Given the description of an element on the screen output the (x, y) to click on. 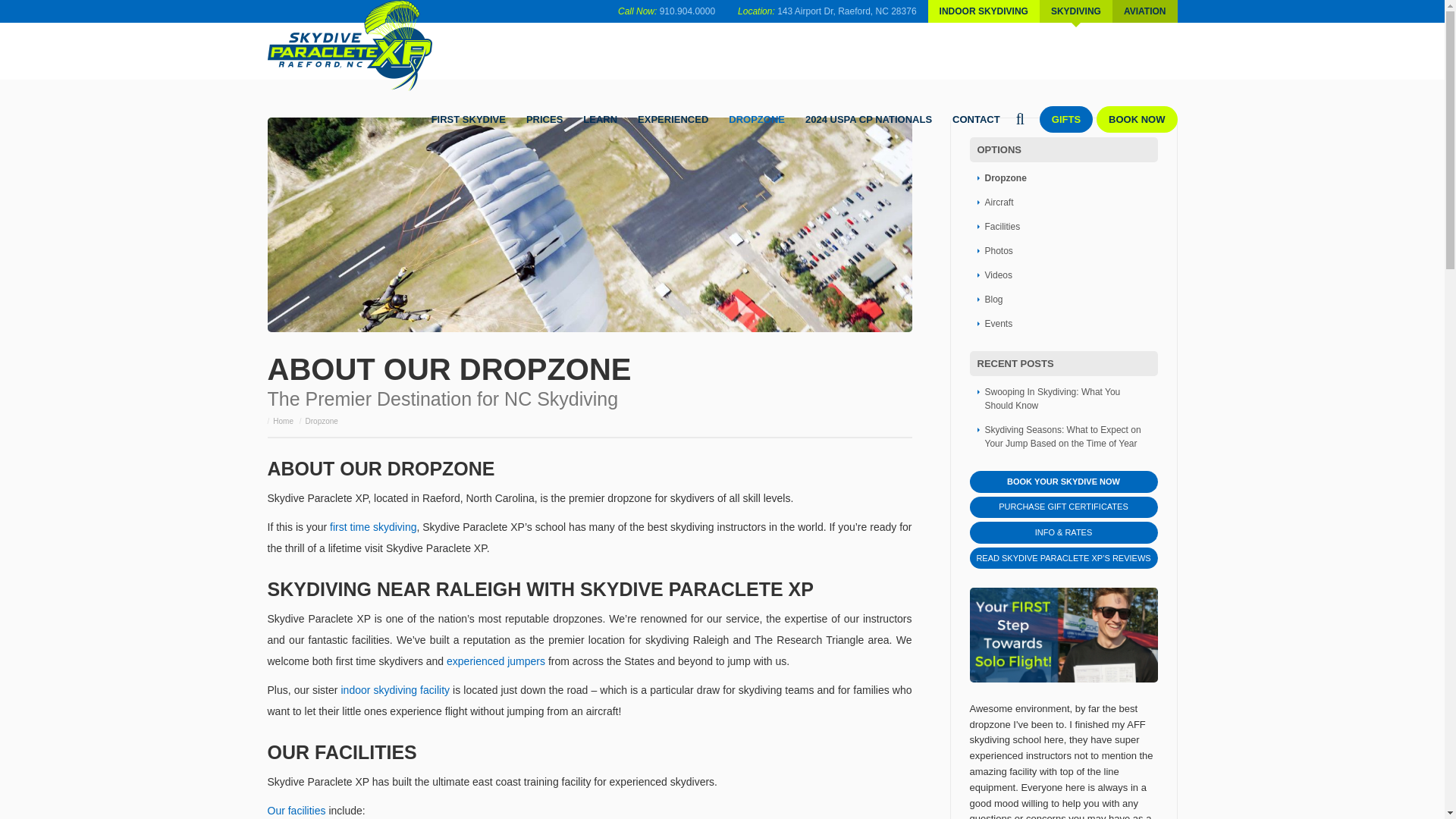
Call Now: 910.904.0000 (666, 11)
PRICES (544, 119)
Skydive Paraclete XP (353, 45)
AVIATION (1144, 11)
INDOOR SKYDIVING (983, 11)
2024 USPA CP NATIONALS (868, 119)
Location: 143 Airport Dr, Raeford, NC 28376 (826, 11)
SKYDIVING (1075, 11)
Go to Dropzone. (321, 420)
CONTACT (976, 119)
FIRST SKYDIVE (468, 119)
DROPZONE (756, 119)
EXPERIENCED (672, 119)
LEARN (600, 119)
Go to Skydive Paraclete XP. (283, 420)
